Given the description of an element on the screen output the (x, y) to click on. 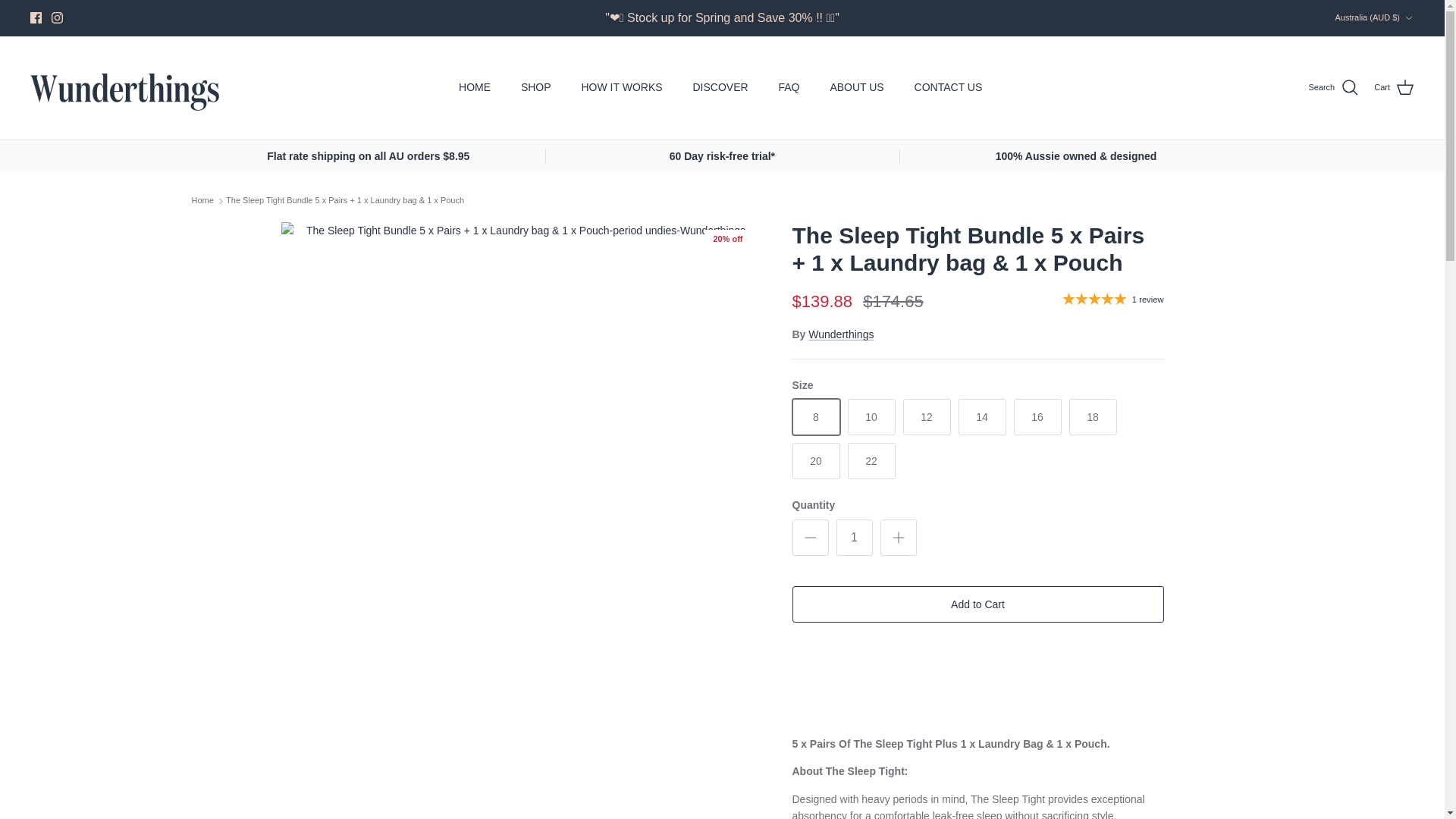
HOW IT WORKS (621, 87)
Instagram (56, 17)
Wunderthings (124, 87)
Instagram (56, 17)
HOME (474, 87)
Down (1408, 18)
ABOUT US (855, 87)
Facebook (36, 17)
DISCOVER (719, 87)
Plus (897, 537)
